Given the description of an element on the screen output the (x, y) to click on. 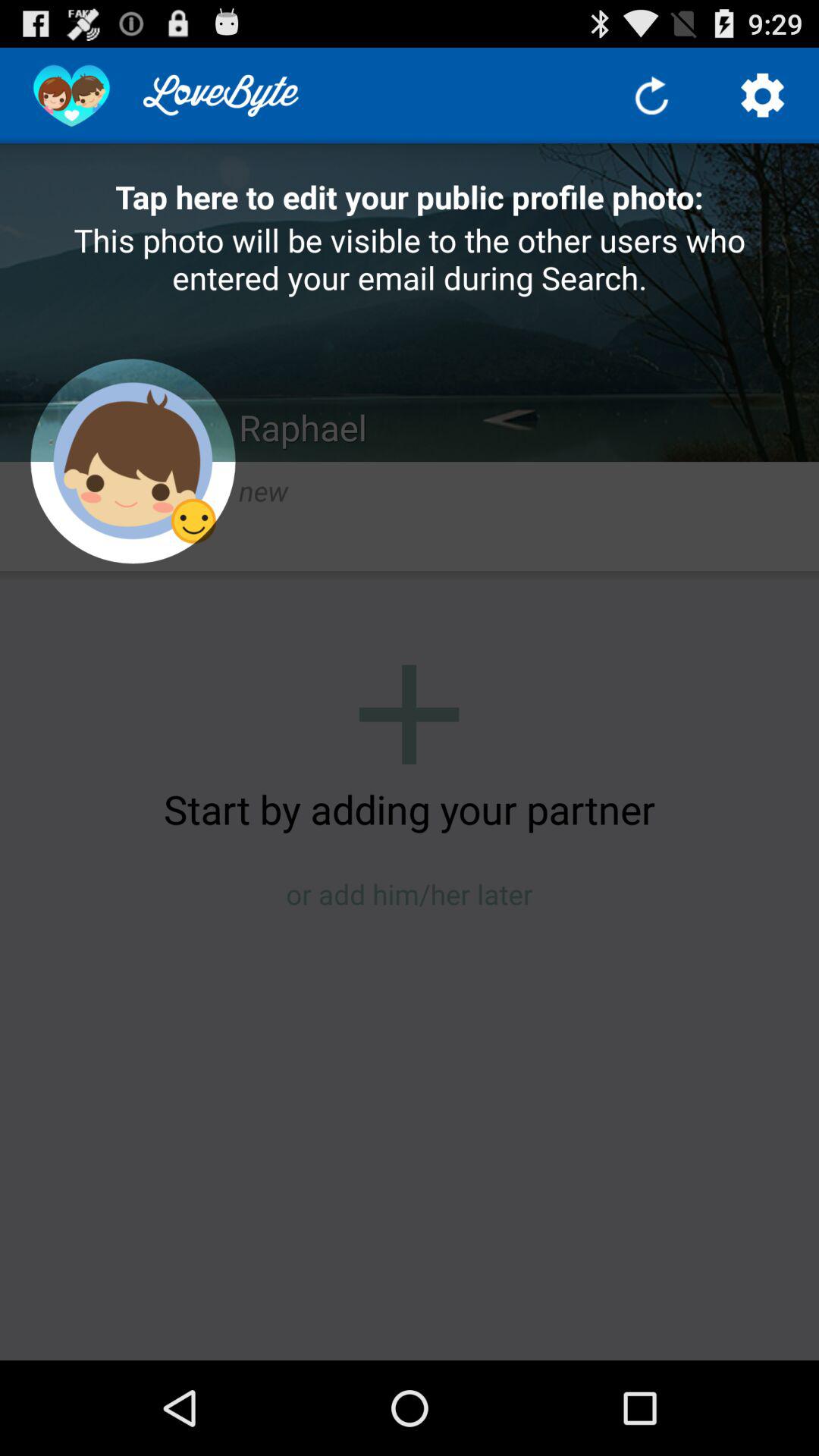
press the start by adding app (409, 808)
